Given the description of an element on the screen output the (x, y) to click on. 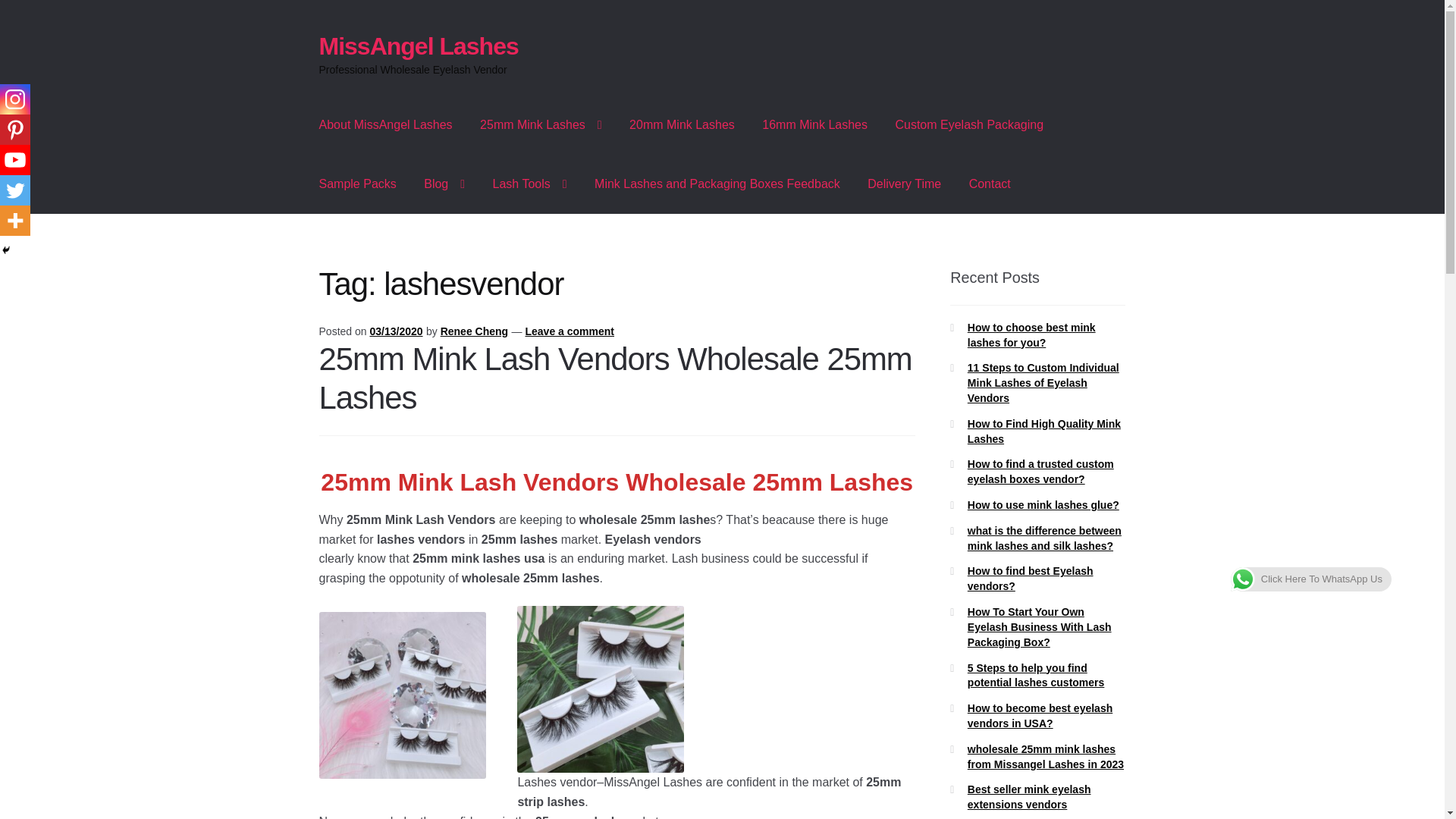
25mm Mink Lashes (540, 124)
More (15, 220)
Custom Eyelash Packaging (968, 124)
Pinterest (15, 129)
Lash Tools (529, 183)
Blog (444, 183)
Mink Lashes and Packaging Boxes Feedback (716, 183)
Delivery Time (904, 183)
About MissAngel Lashes (385, 124)
Youtube (15, 159)
